Given the description of an element on the screen output the (x, y) to click on. 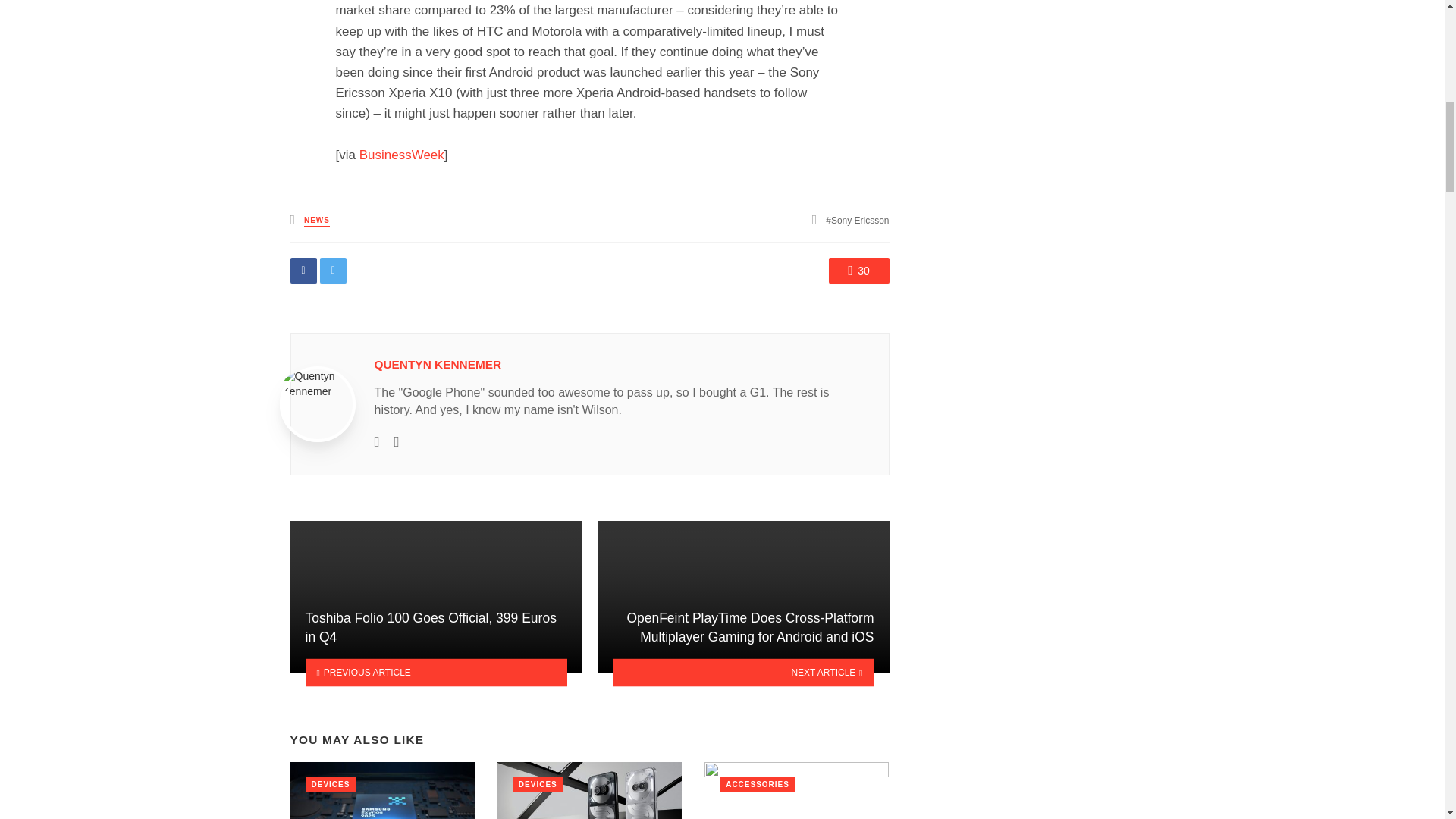
Share on Facebook (302, 270)
30 (858, 270)
Sony Ericsson (856, 220)
BusinessWeek (401, 155)
Share on Twitter (333, 270)
Posts by Quentyn Kennemer (438, 364)
NEWS (317, 220)
30 Comments (858, 270)
PREVIOUS ARTICLE (434, 673)
QUENTYN KENNEMER (438, 364)
